Given the description of an element on the screen output the (x, y) to click on. 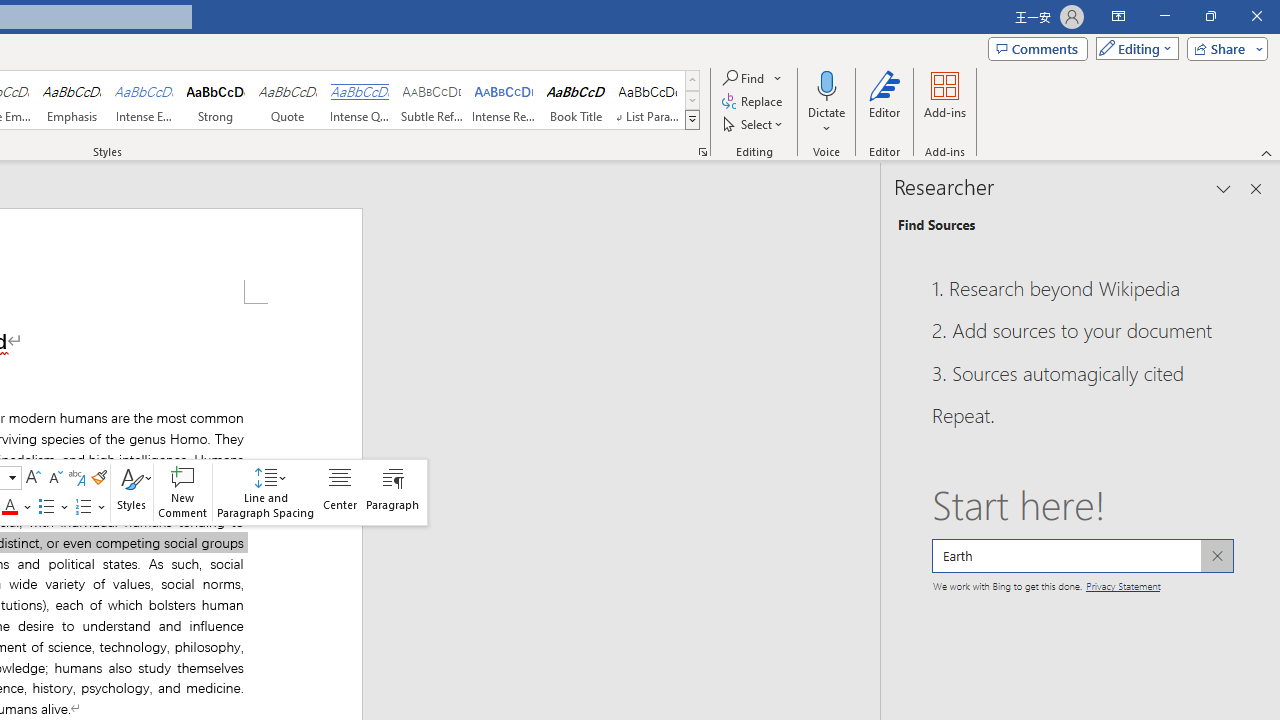
Emphasis (71, 100)
